Given the description of an element on the screen output the (x, y) to click on. 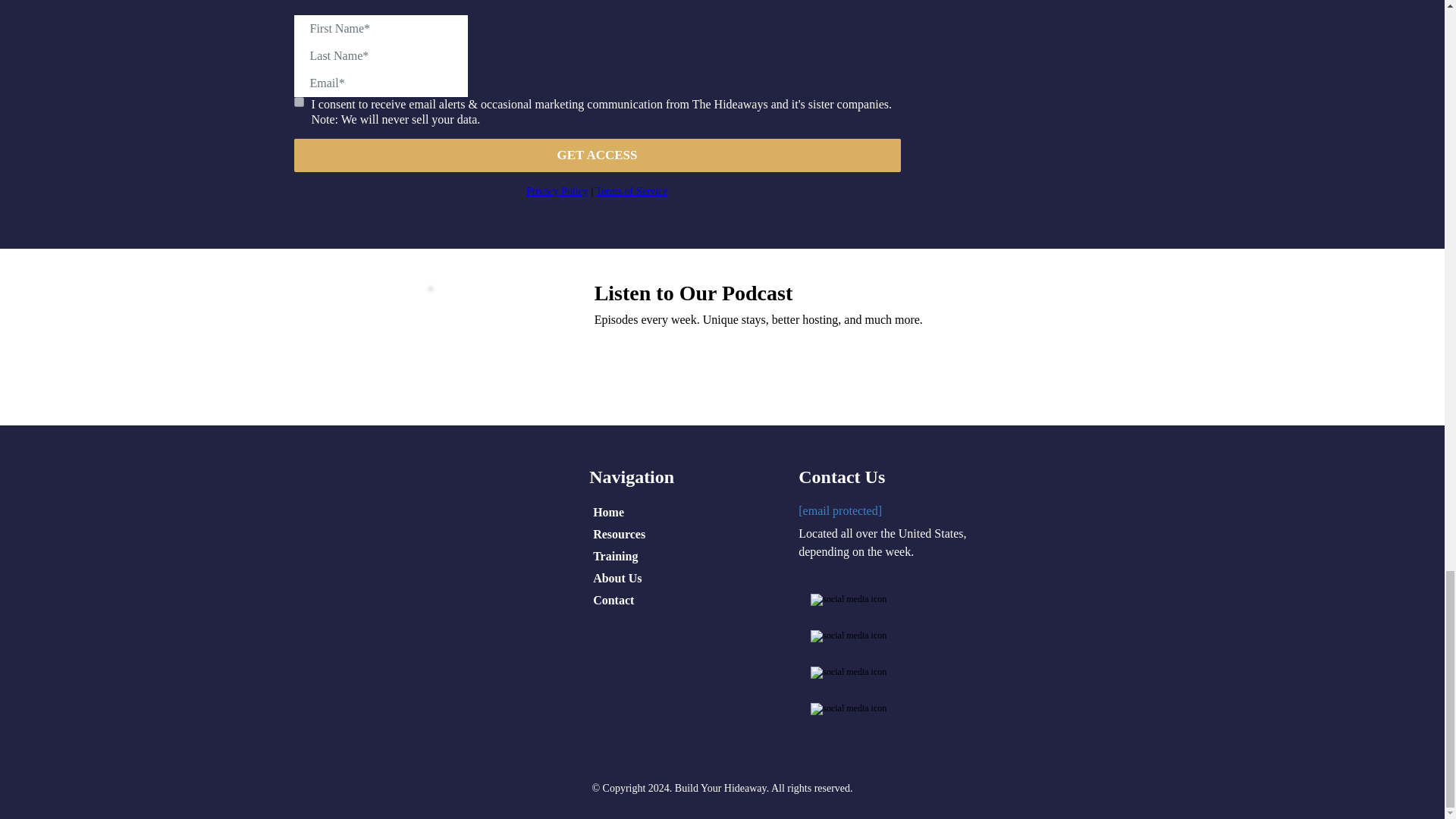
Resources (626, 535)
Contact (620, 600)
About Us (625, 578)
Home (616, 513)
Terms of Service (631, 191)
Training (622, 557)
GET ACCESS (597, 154)
Privacy Policy (556, 191)
